Given the description of an element on the screen output the (x, y) to click on. 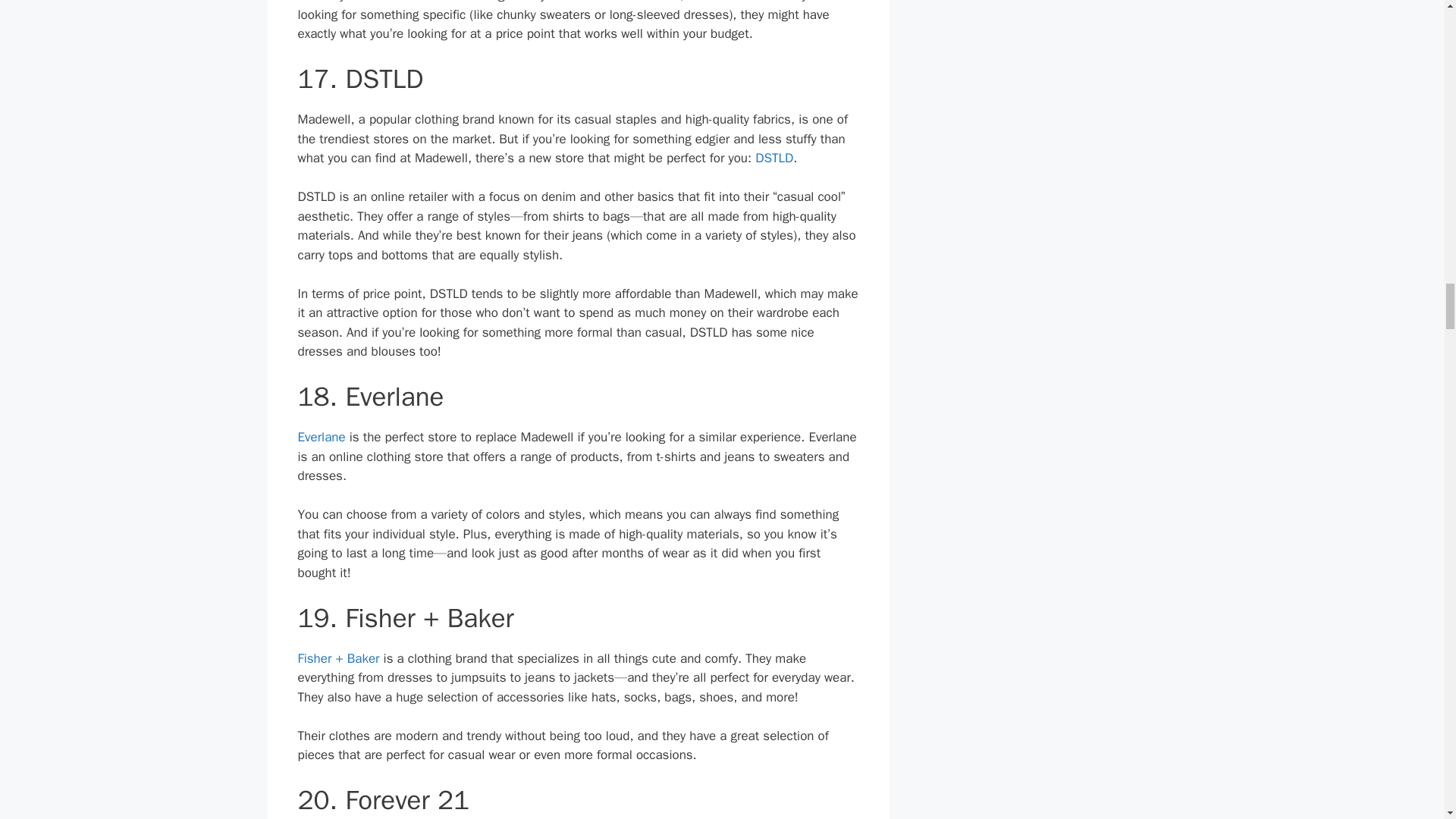
Everlane (321, 437)
DSTLD (774, 157)
